Given the description of an element on the screen output the (x, y) to click on. 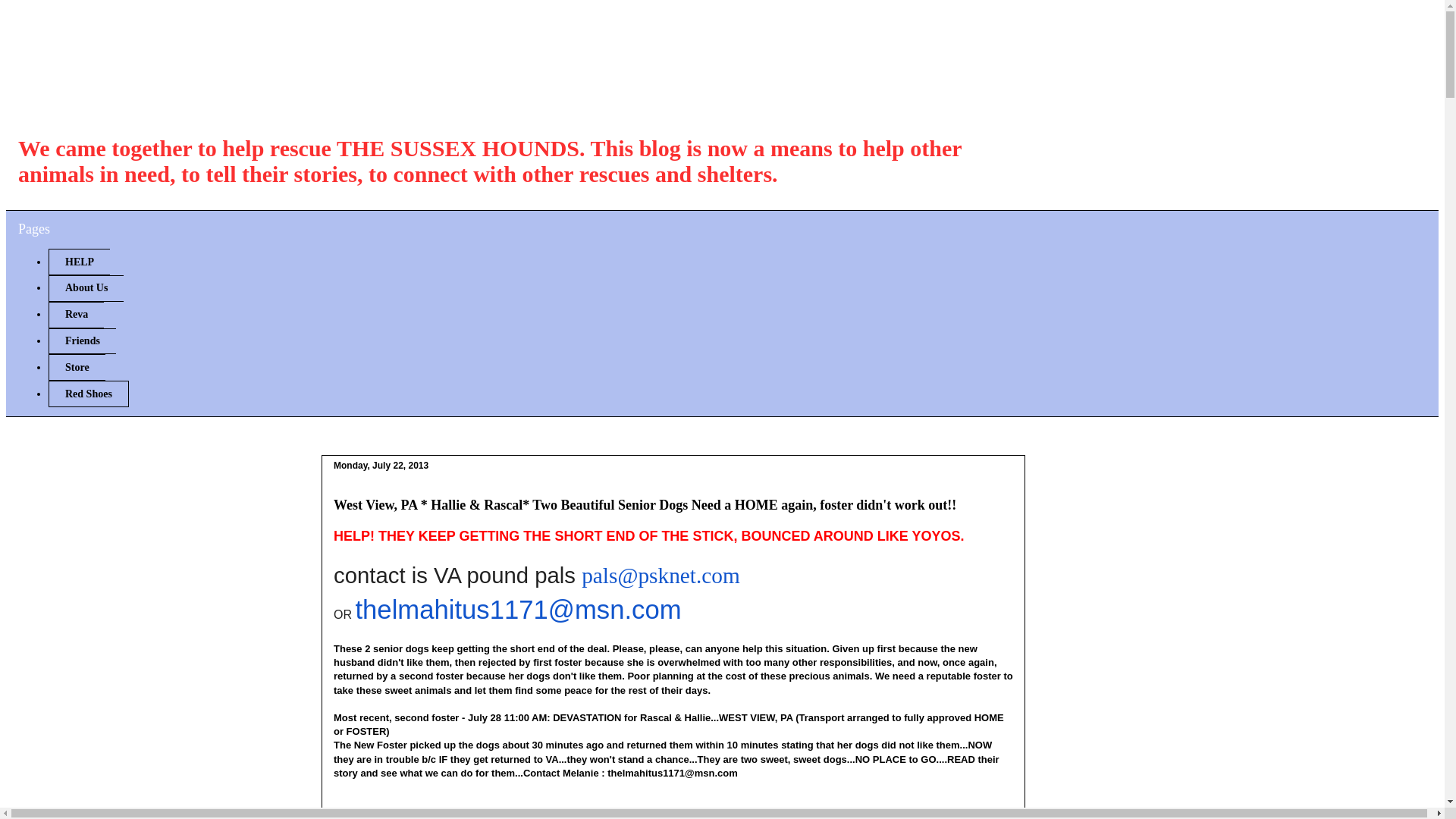
HELP (79, 261)
Store (76, 366)
Hearts to the Rescue (218, 79)
About Us (85, 288)
Red Shoes (88, 393)
Friends (82, 341)
Reva (75, 315)
